Given the description of an element on the screen output the (x, y) to click on. 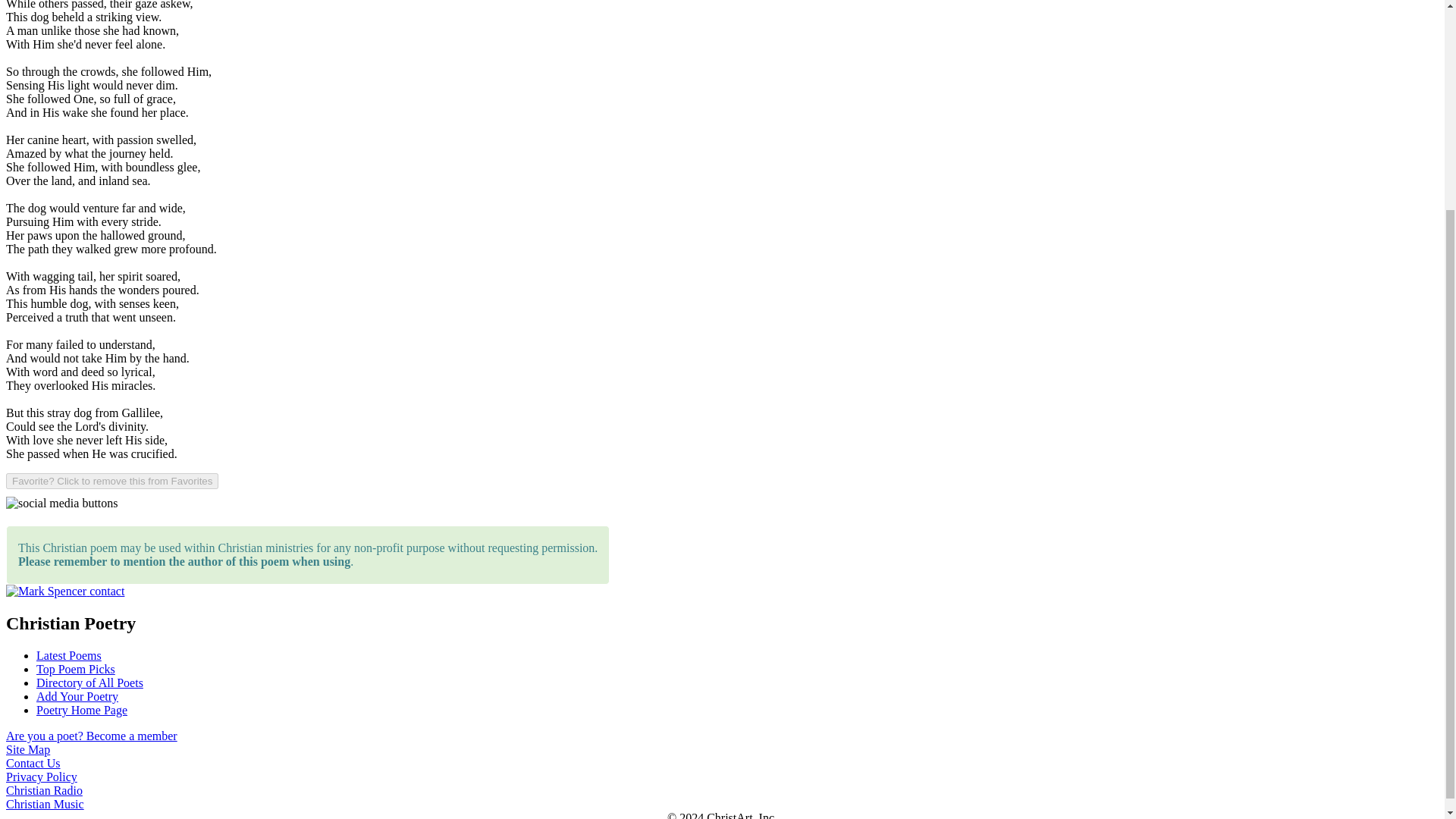
Contact artist Mark Spencer (45, 591)
Contact Us (33, 762)
Favorite? Click to remove this from Favorites (111, 480)
Site Map (27, 748)
Latest Poems (68, 655)
Christian Radio (43, 789)
contact (105, 590)
Privacy Policy (41, 776)
Are you a poet? Become a member (91, 735)
Poetry Home Page (82, 709)
